Given the description of an element on the screen output the (x, y) to click on. 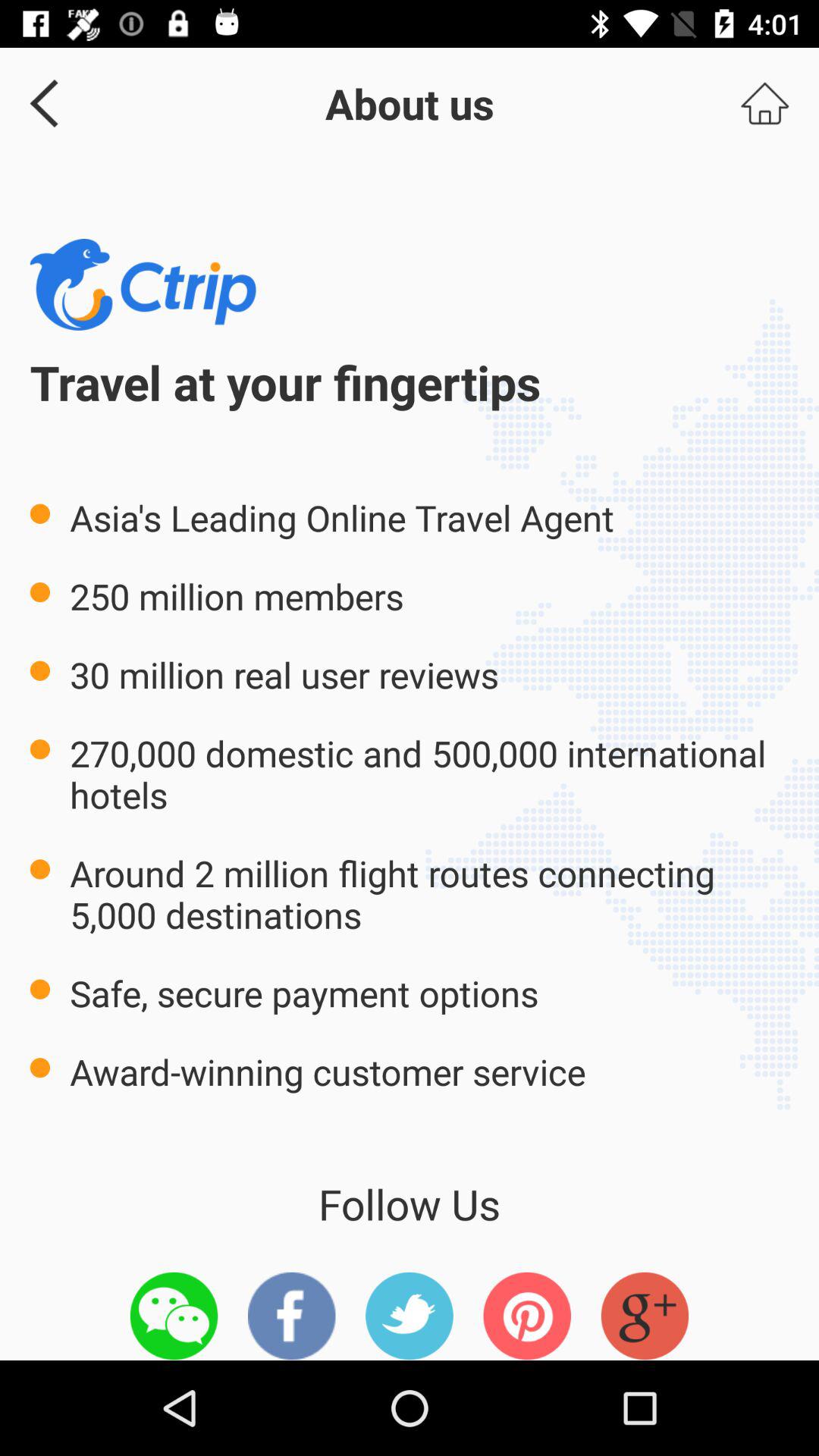
this icon is twitter (409, 1315)
